Given the description of an element on the screen output the (x, y) to click on. 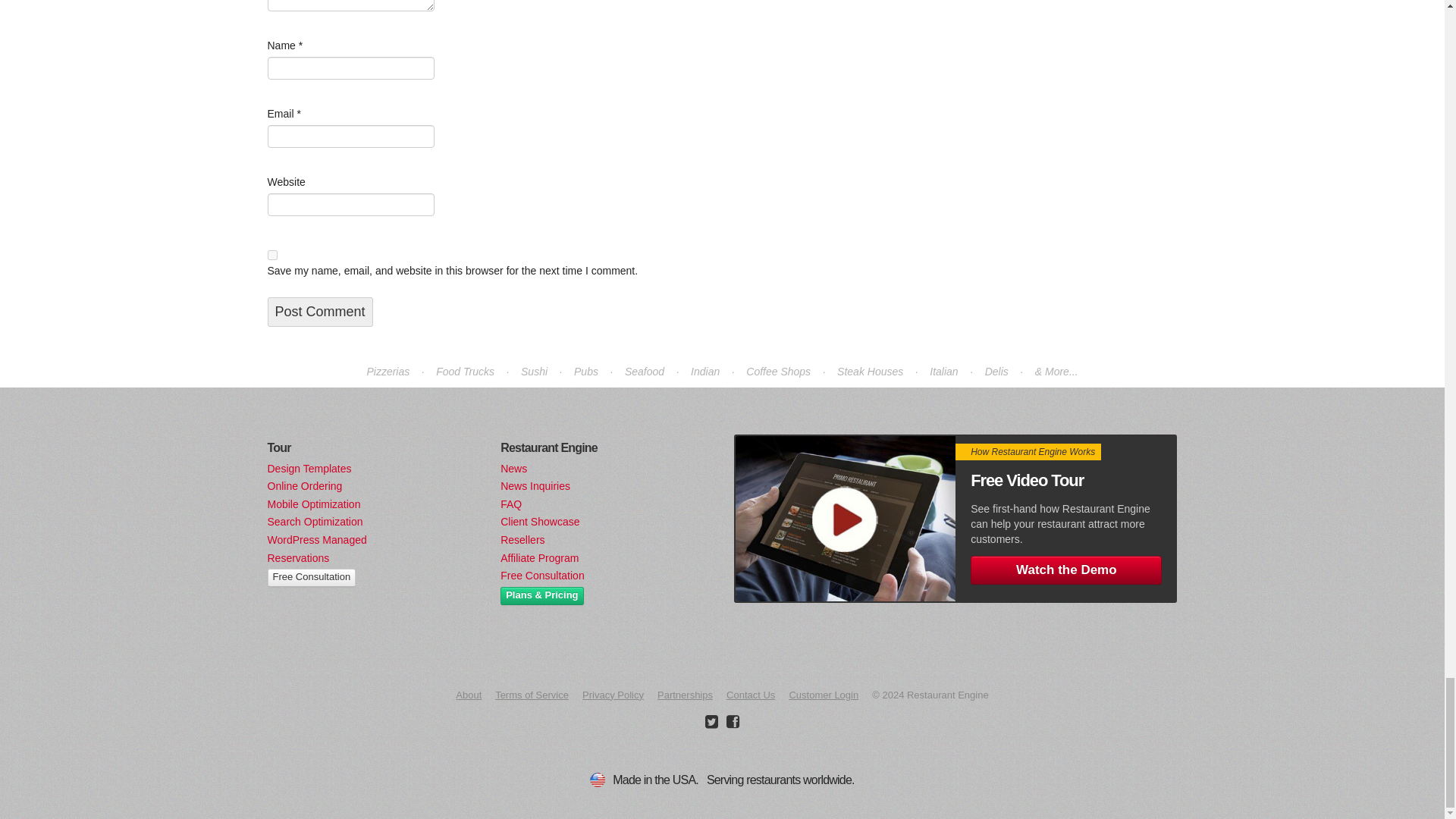
yes (271, 255)
Client Showcase (539, 521)
FAQ (510, 503)
Design Templates (308, 468)
News Inquiries (535, 485)
Post Comment (319, 311)
Reservations (297, 558)
WordPress Managed (316, 539)
Mobile Optimization (312, 503)
Get a Free Consultation (310, 577)
News Inquiries (535, 485)
Online Ordering (304, 485)
Reservations (297, 558)
Post Comment (319, 311)
Search Optimization (314, 521)
